Given the description of an element on the screen output the (x, y) to click on. 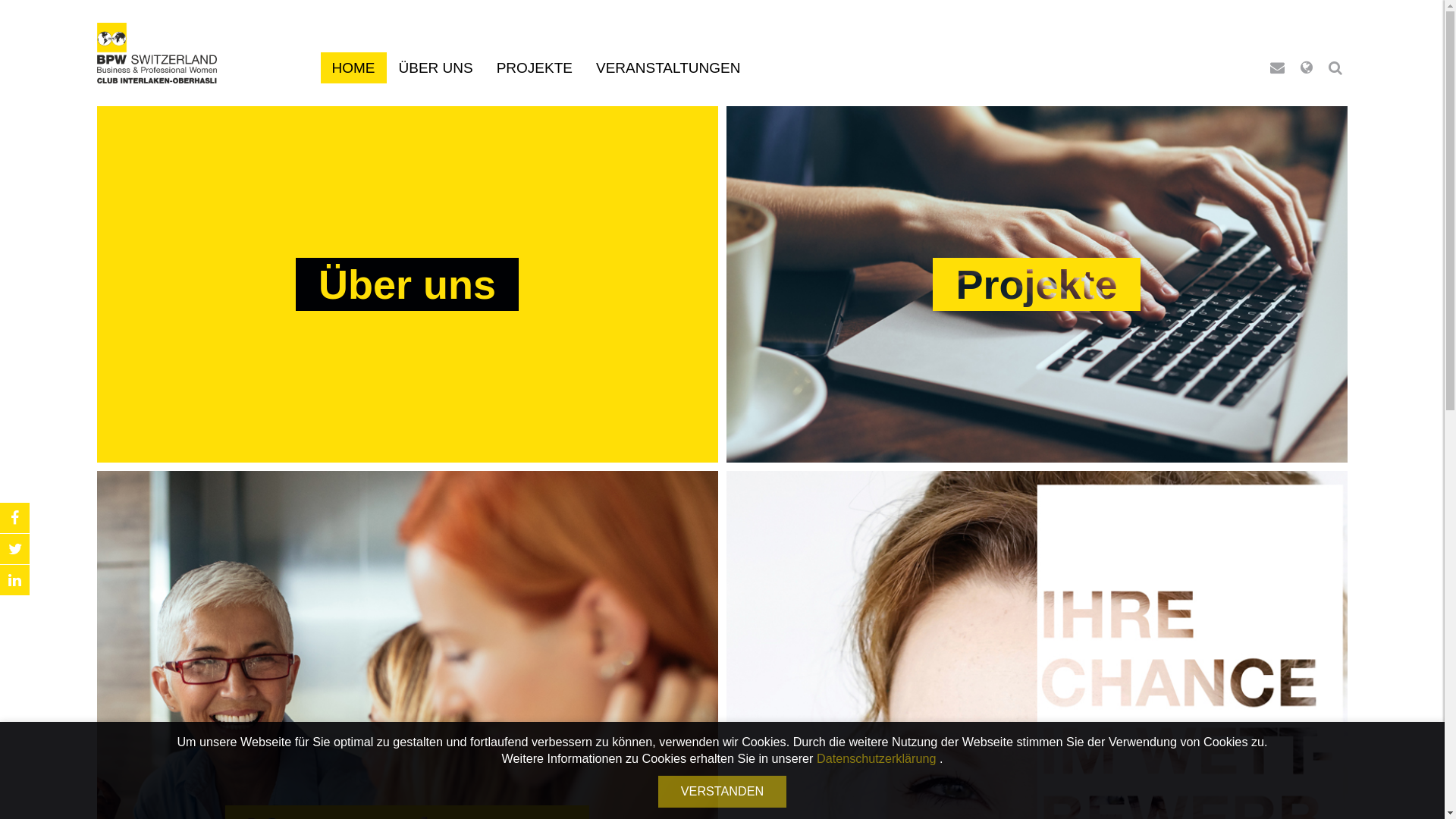
VERANSTALTUNGEN Element type: text (667, 67)
Projekte Element type: text (1036, 288)
HOME Element type: text (352, 67)
VERSTANDEN Element type: text (722, 791)
Home Element type: hover (157, 52)
PROJEKTE Element type: text (534, 67)
